Given the description of an element on the screen output the (x, y) to click on. 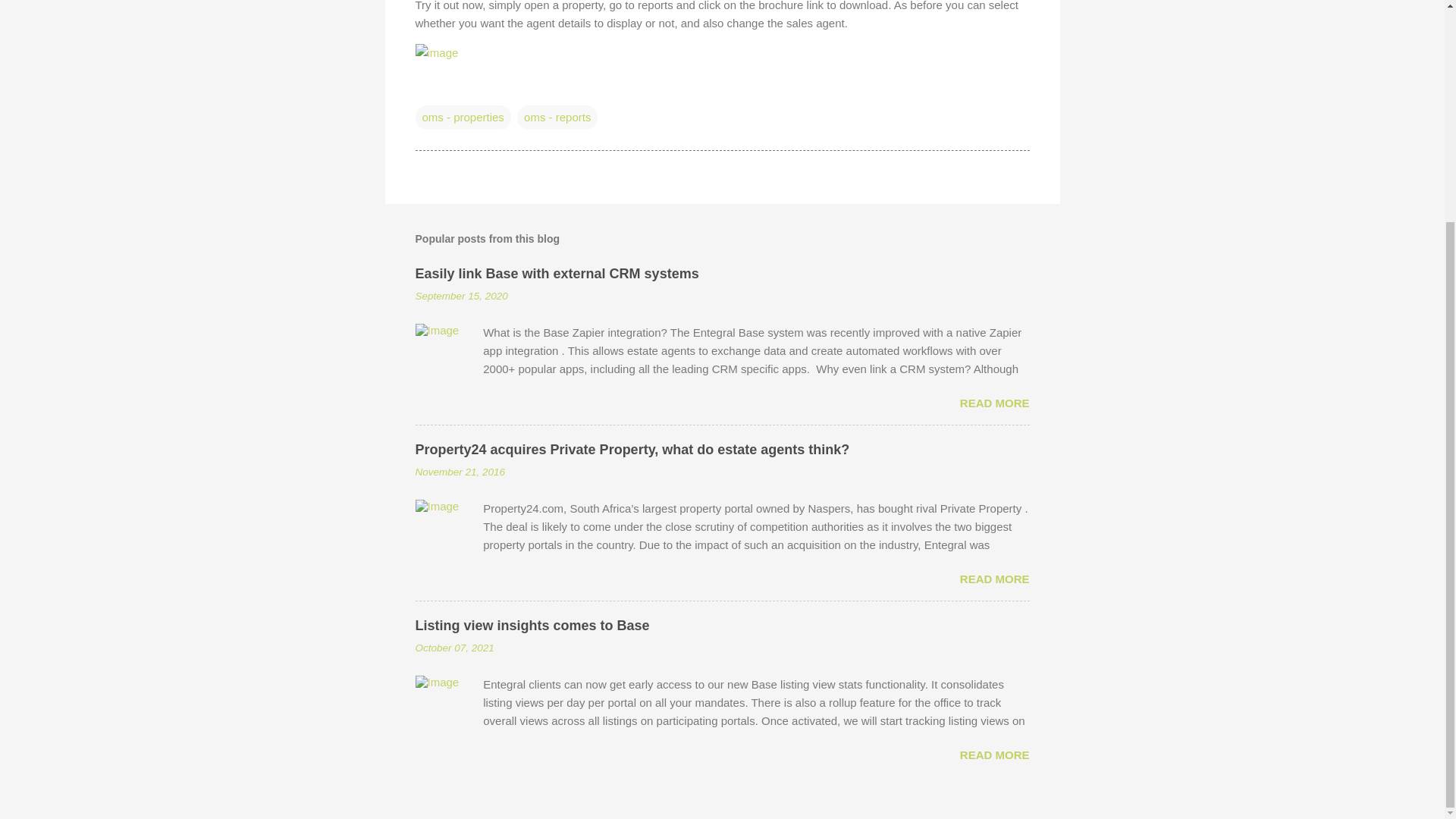
oms - properties (462, 117)
permanent link (461, 296)
November 21, 2016 (459, 471)
image (436, 52)
October 07, 2021 (454, 647)
Easily link Base with external CRM systems (556, 273)
READ MORE (994, 754)
Listing view insights comes to Base (531, 625)
READ MORE (994, 578)
READ MORE (994, 402)
September 15, 2020 (461, 296)
oms - reports (556, 117)
